Given the description of an element on the screen output the (x, y) to click on. 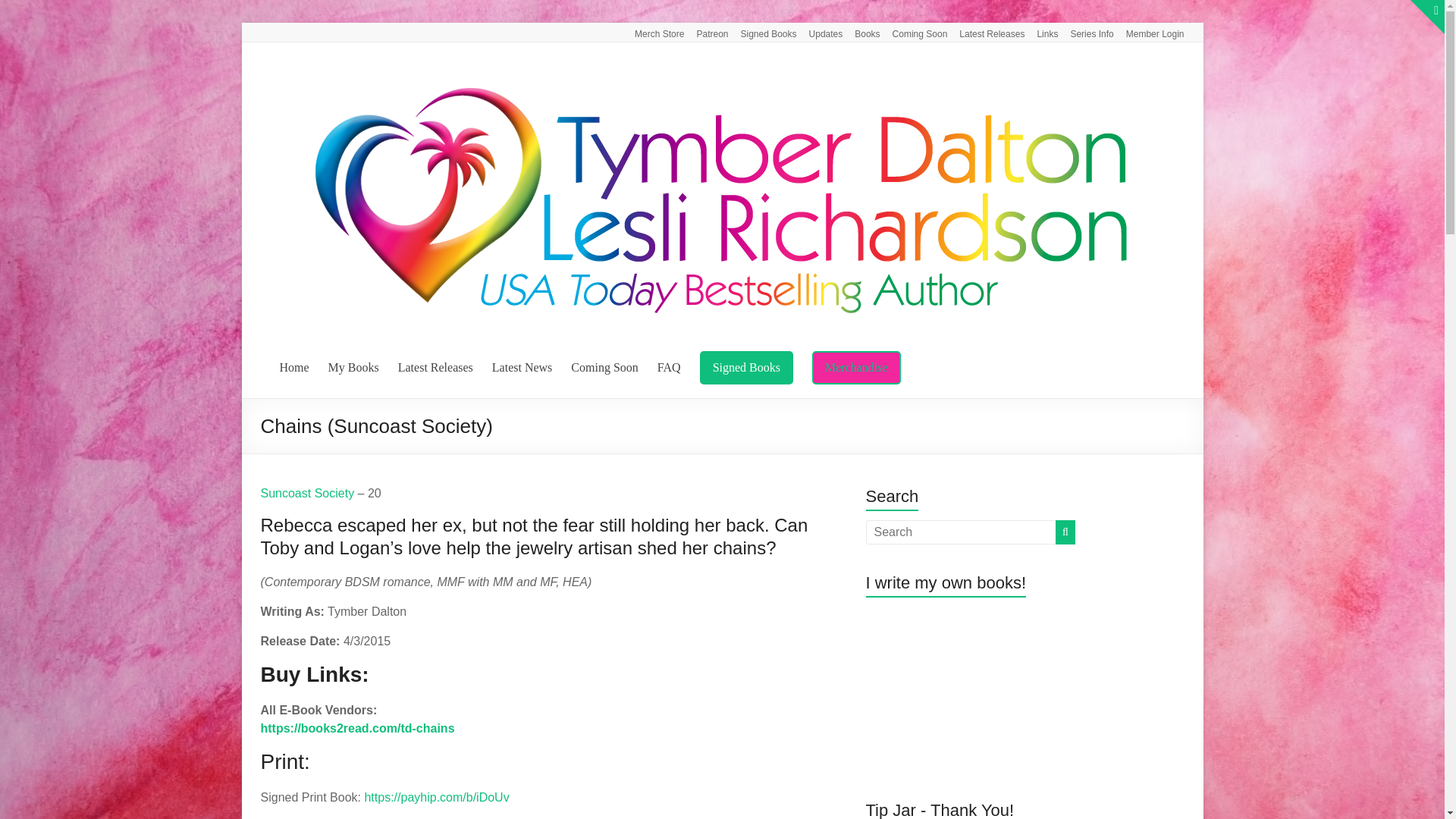
Updates (819, 31)
Series Info (1085, 31)
Links (1041, 31)
Signed Books (746, 367)
Signed Books (762, 31)
Merch Store (653, 31)
FAQ (669, 367)
Coming Soon (603, 367)
Patreon (706, 31)
Merchandise (856, 367)
